Given the description of an element on the screen output the (x, y) to click on. 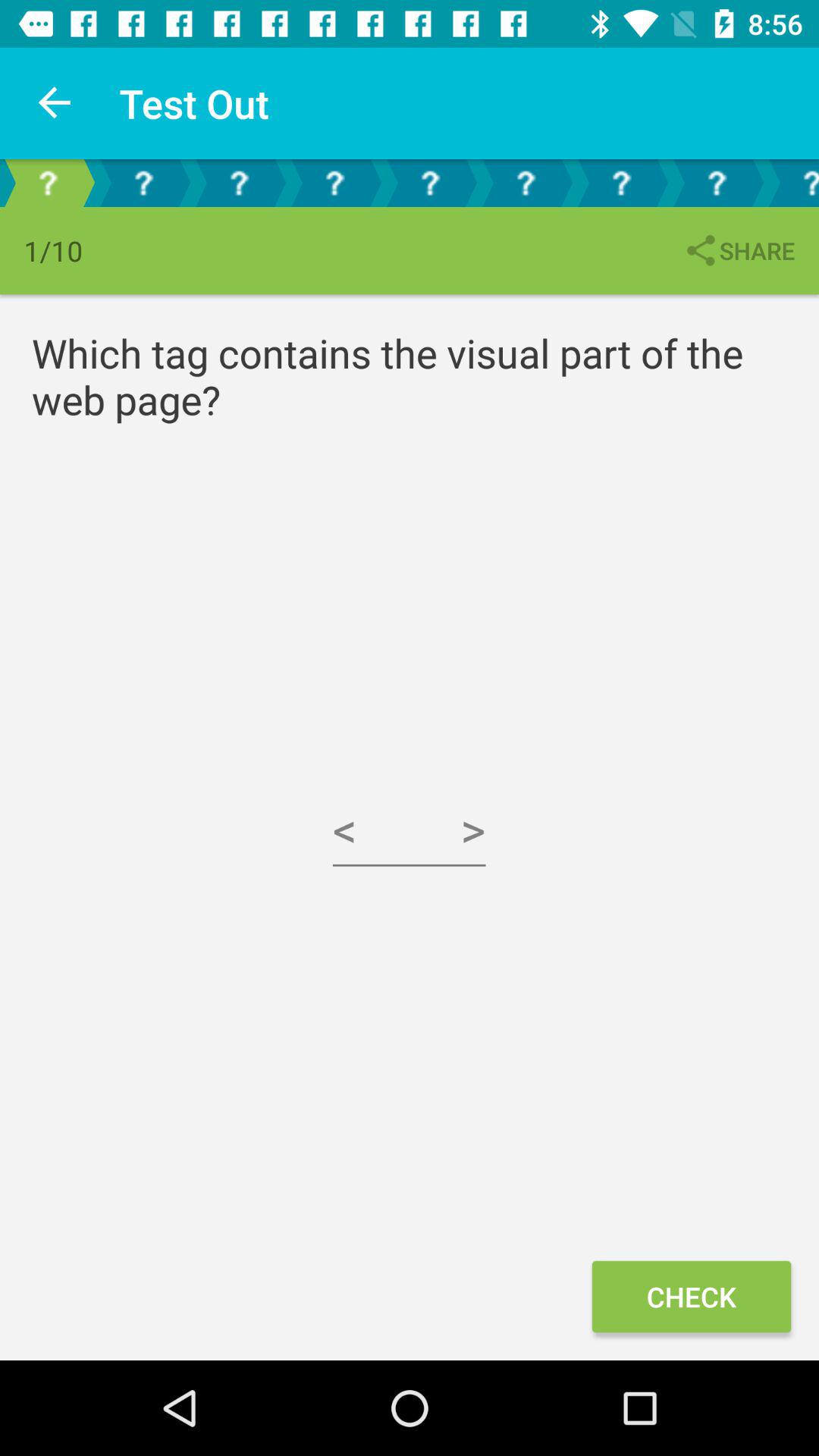
click item to the left of the test out (55, 103)
